Given the description of an element on the screen output the (x, y) to click on. 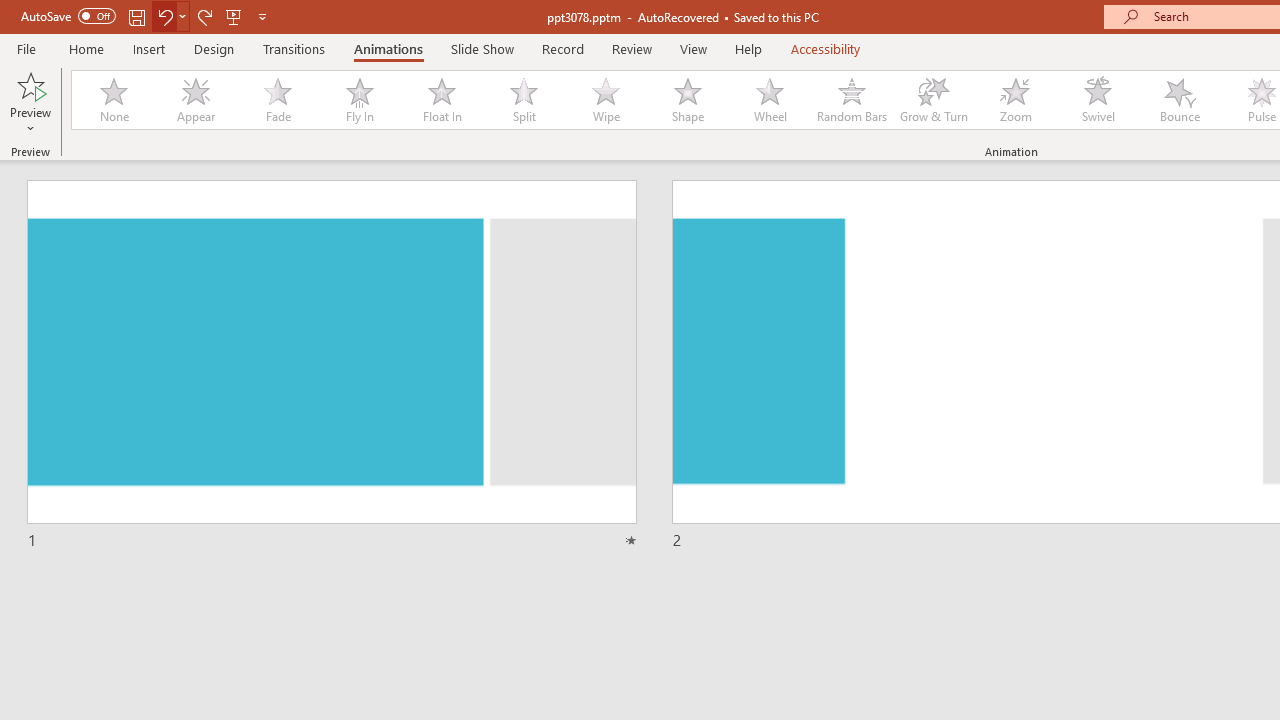
Appear (195, 100)
Swivel (1098, 100)
Wipe (605, 100)
Shape (687, 100)
Bounce (1180, 100)
None (113, 100)
Grow & Turn (934, 100)
